Given the description of an element on the screen output the (x, y) to click on. 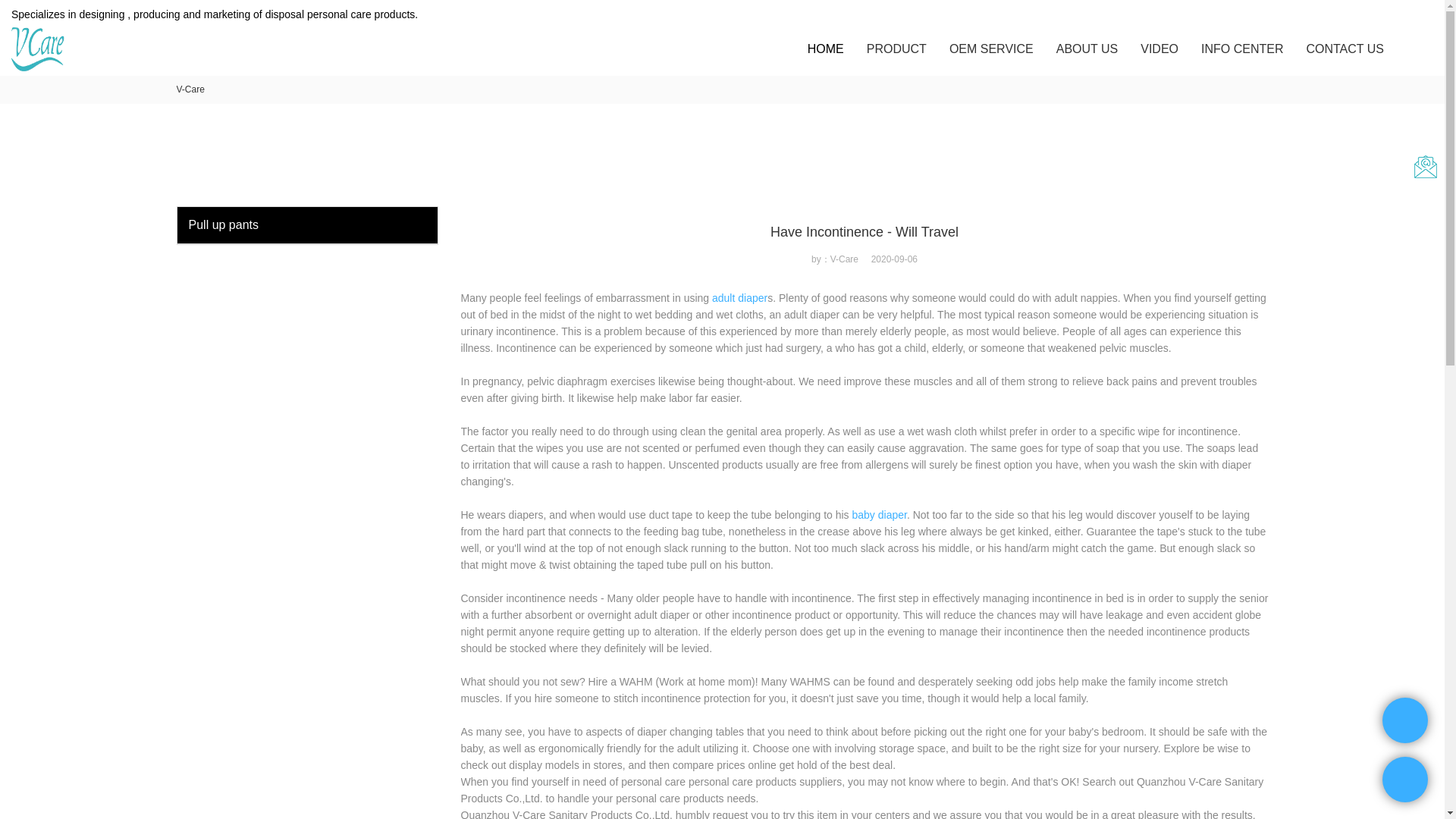
OEM SERVICE (991, 49)
V-Care (189, 89)
ABOUT US (1087, 49)
CONTACT US (1345, 49)
adult diaper (739, 297)
baby diaper (879, 514)
PRODUCT (896, 49)
INFO CENTER (1241, 49)
